Given the description of an element on the screen output the (x, y) to click on. 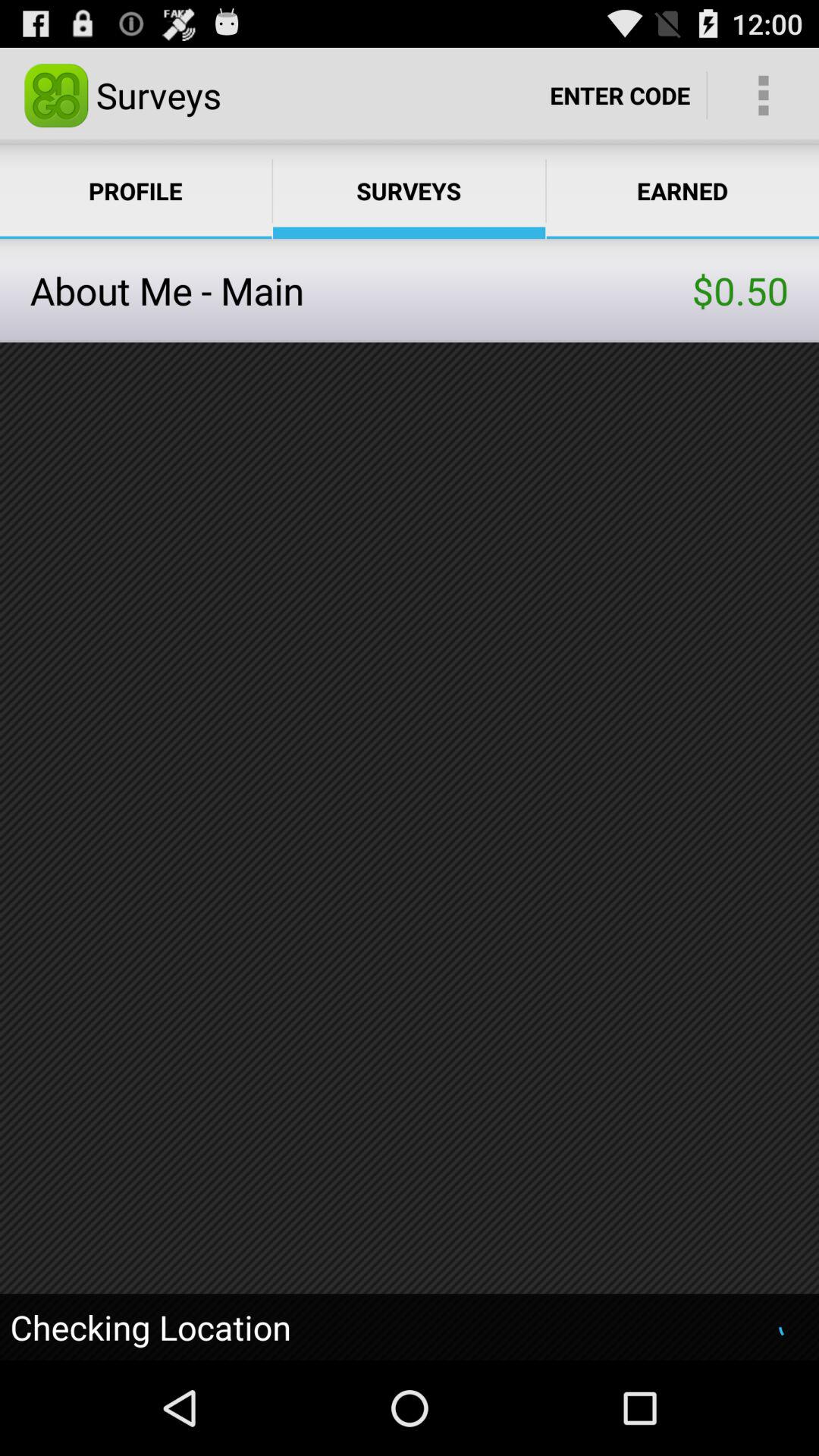
turn on the $0.50 icon (740, 290)
